Given the description of an element on the screen output the (x, y) to click on. 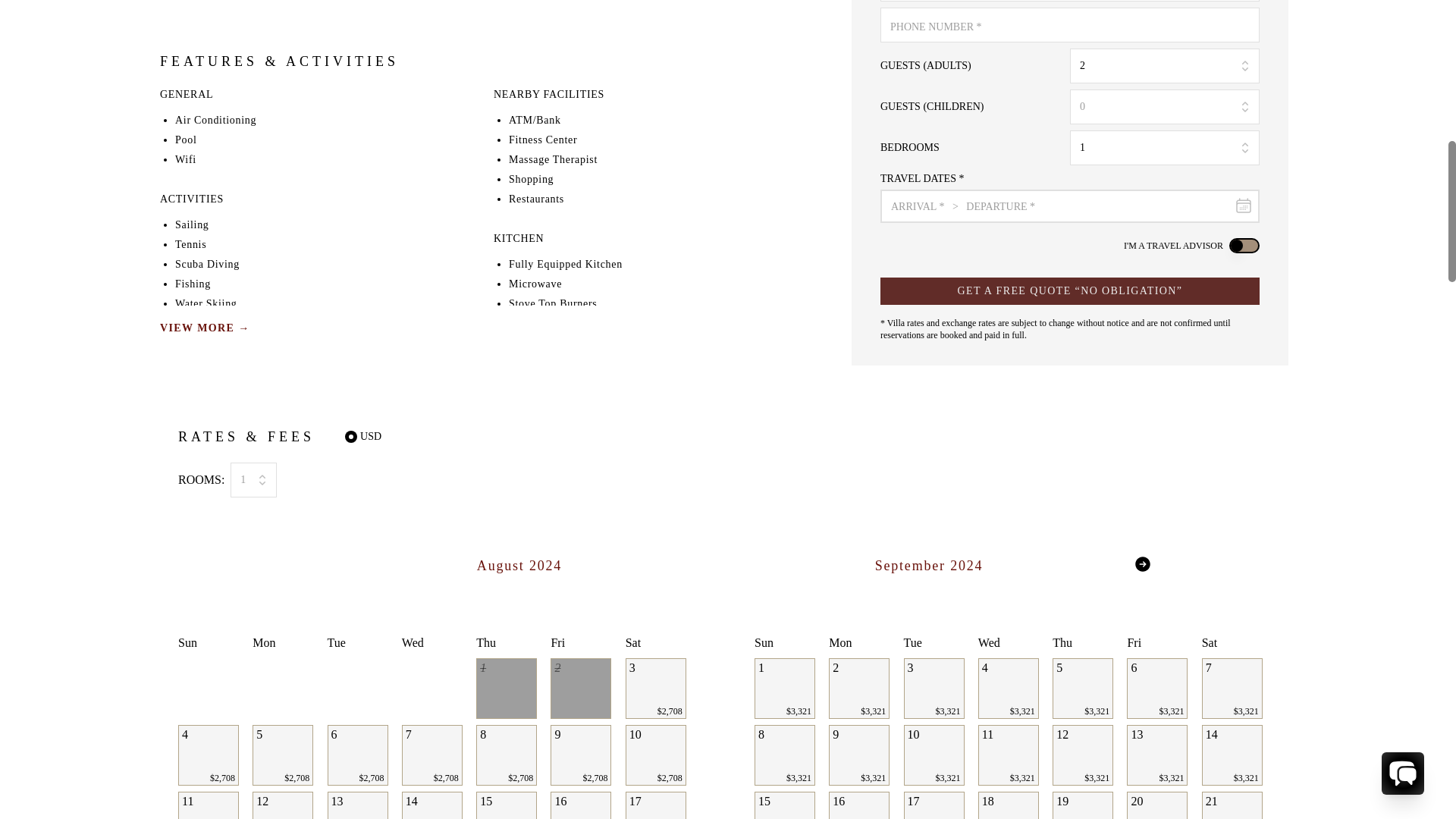
0 (1164, 106)
1 (253, 479)
1 (1164, 147)
2 (1164, 65)
on (350, 436)
Use setting (1243, 245)
